Given the description of an element on the screen output the (x, y) to click on. 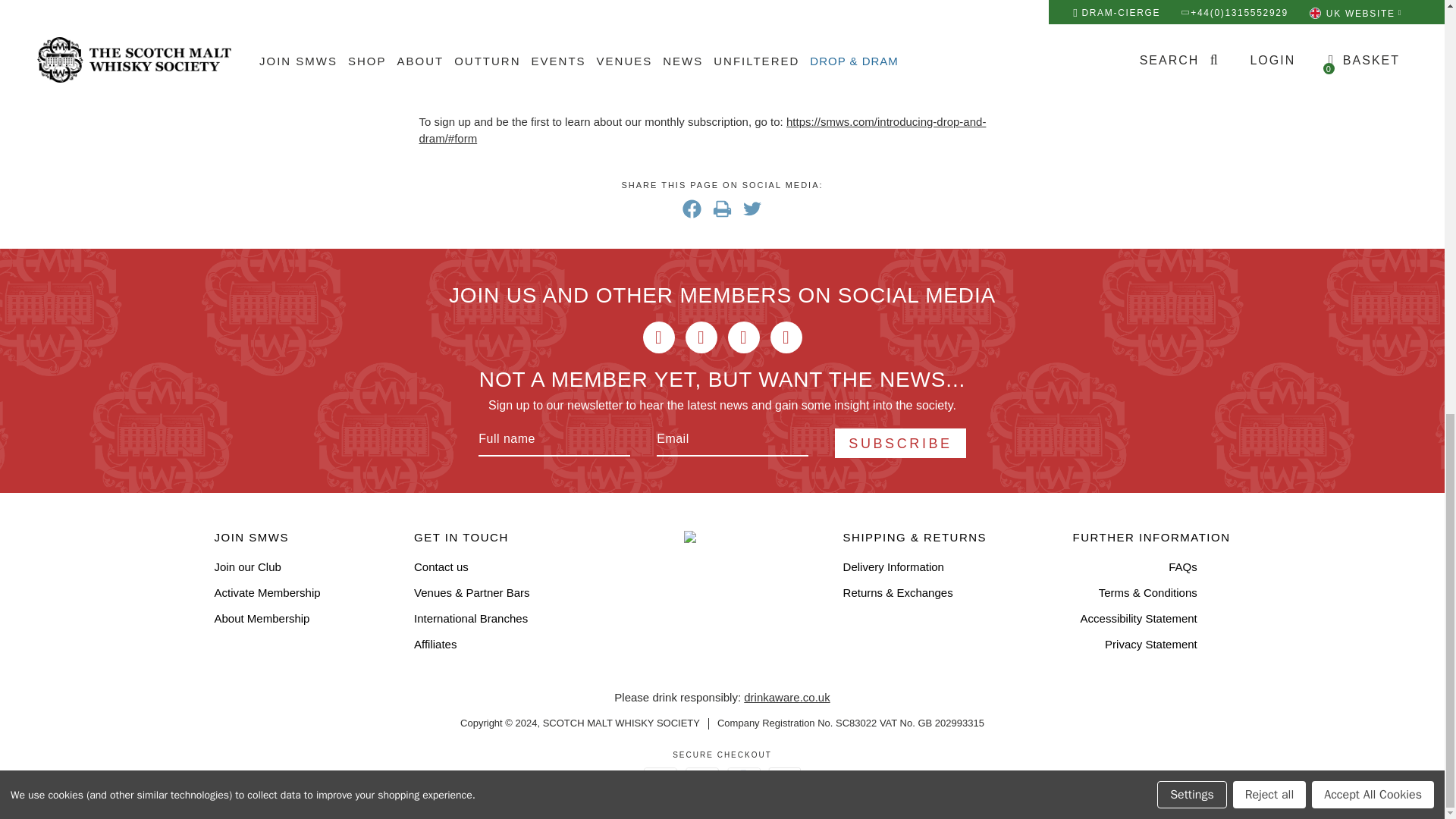
Subscribe (899, 442)
